Given the description of an element on the screen output the (x, y) to click on. 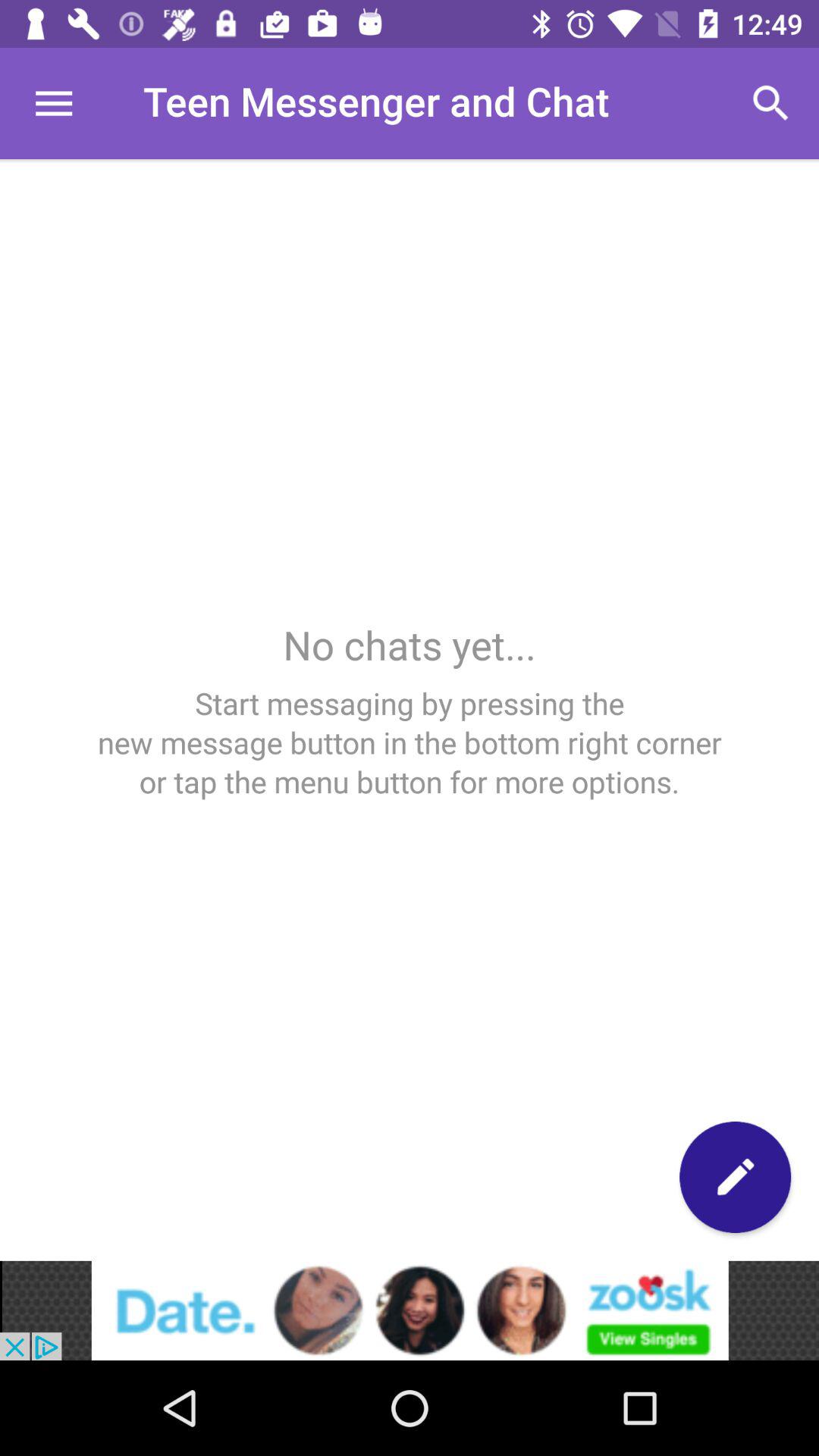
note (735, 1177)
